Given the description of an element on the screen output the (x, y) to click on. 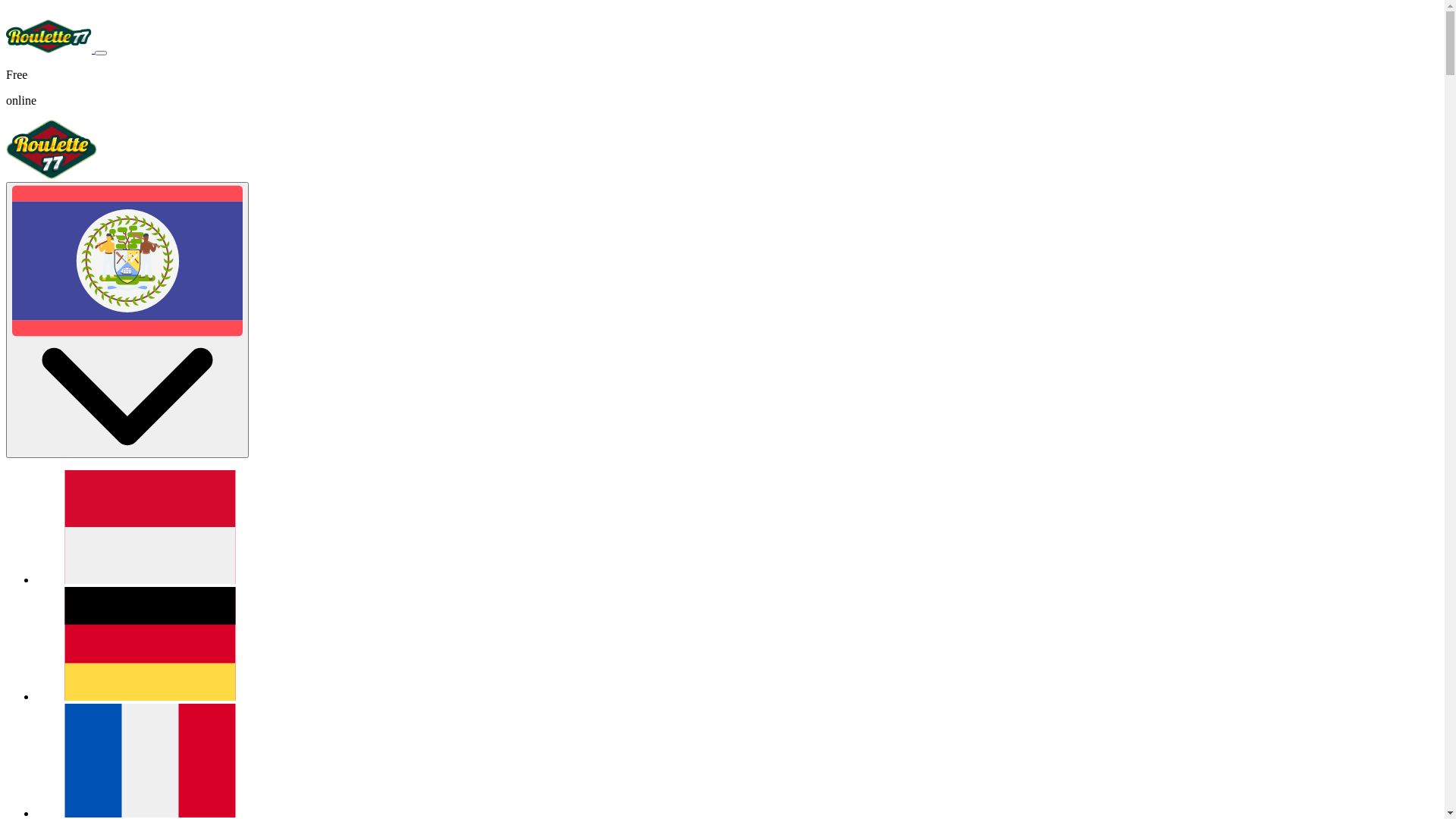
Roulette77 Indonesia / Bahasa Indonesia Element type: hover (149, 579)
Roulette77 Deutschland / Deutsch Element type: hover (149, 696)
